Given the description of an element on the screen output the (x, y) to click on. 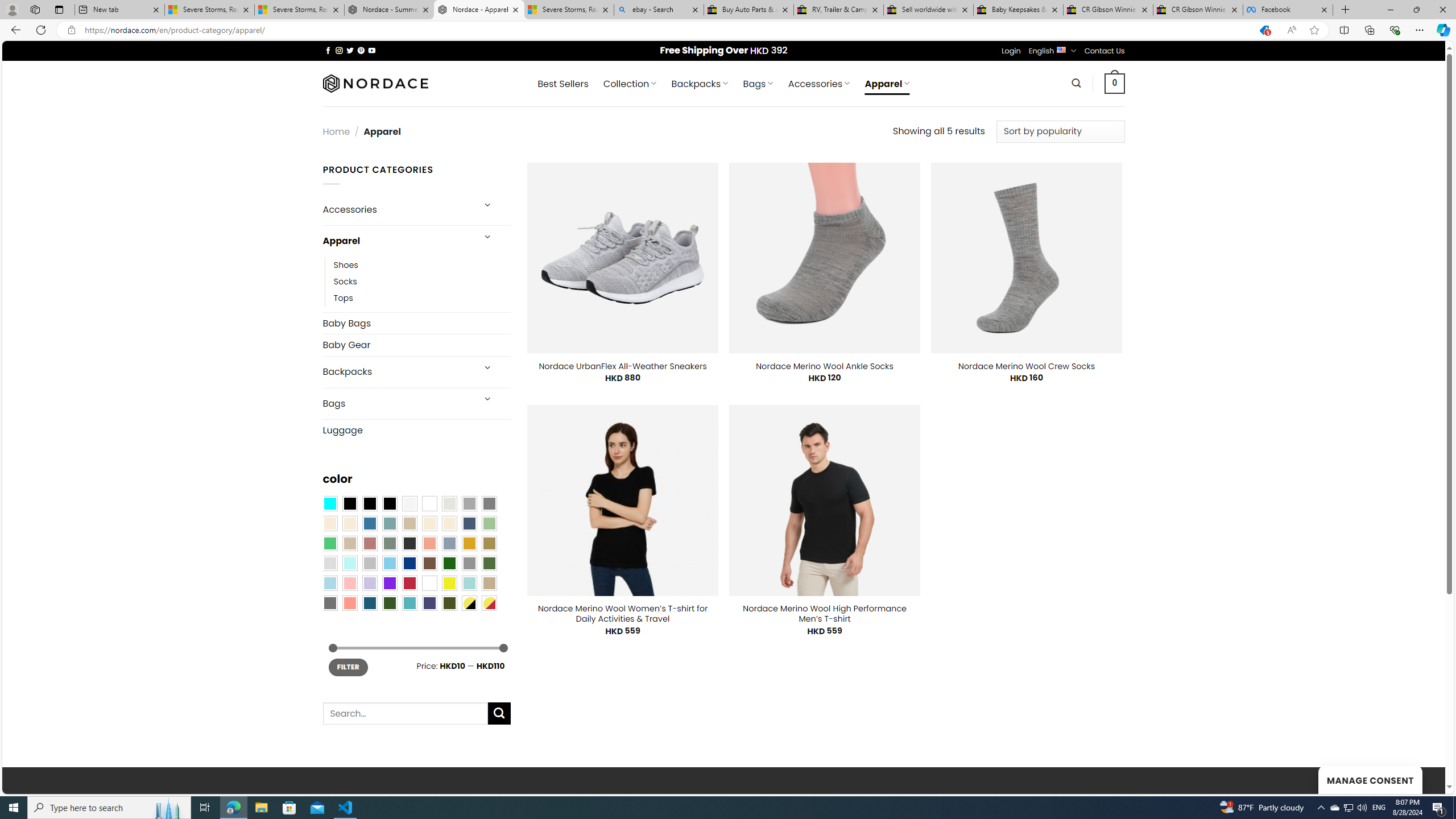
Follow on Pinterest (360, 49)
Light Taupe (349, 542)
Sky Blue (389, 562)
Shop order (1060, 131)
Shoes (422, 264)
 Best Sellers (562, 83)
Aqua Blue (329, 503)
Apparel (397, 241)
Pearly White (408, 503)
